Given the description of an element on the screen output the (x, y) to click on. 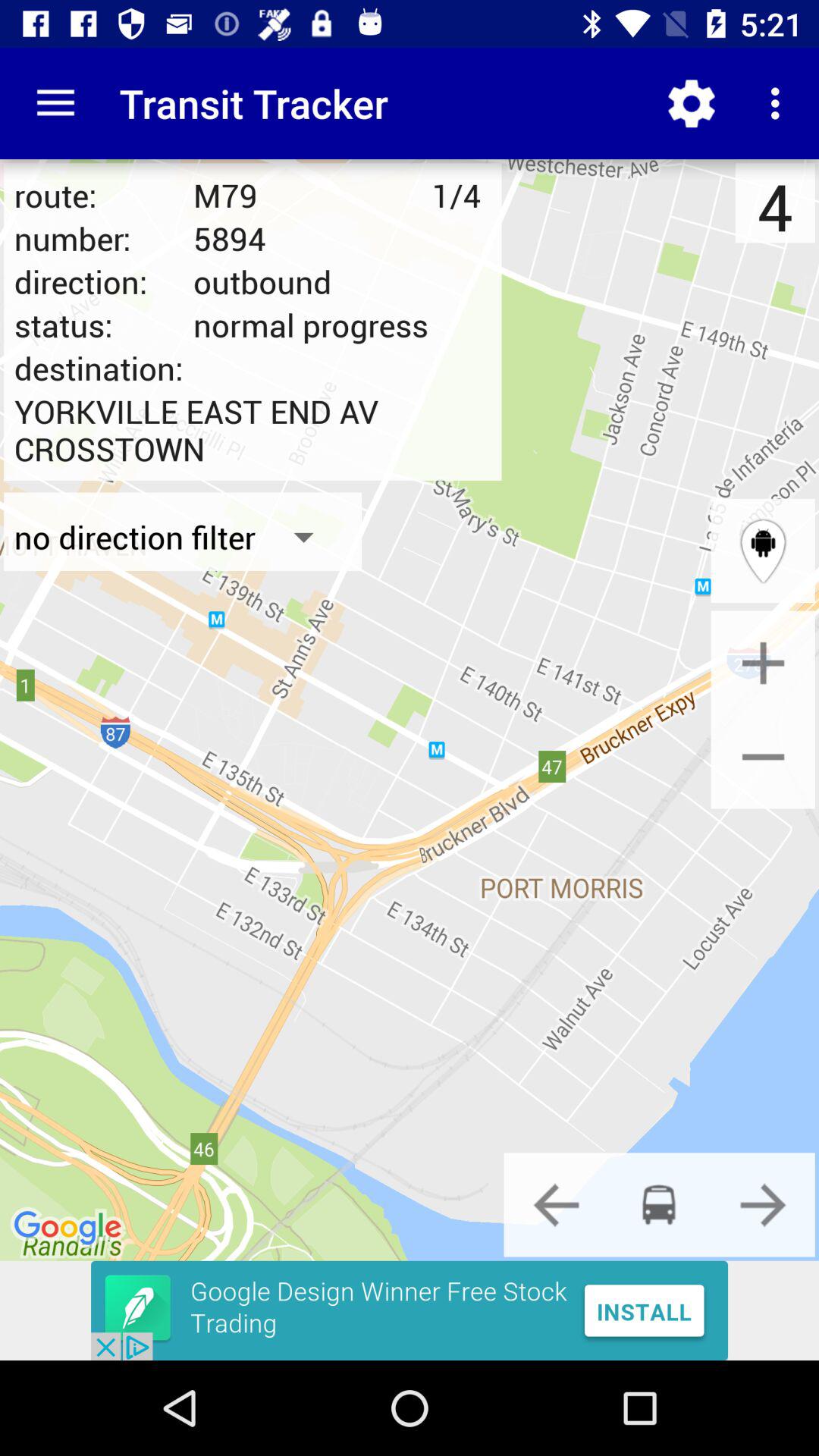
open advertisement (409, 1310)
